Given the description of an element on the screen output the (x, y) to click on. 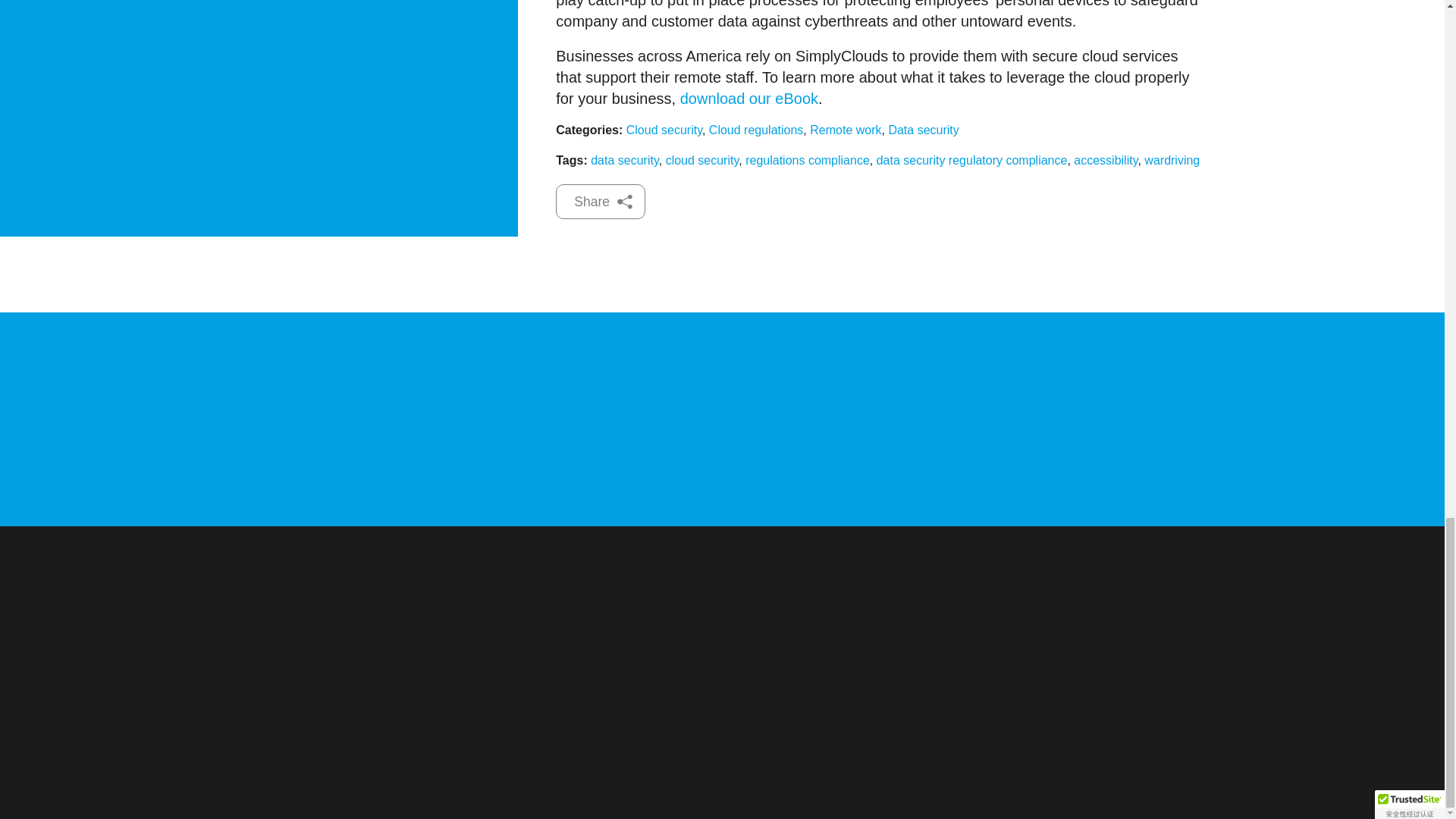
data security regulatory compliance (971, 160)
wardriving (1171, 160)
data security (625, 160)
Cloud security (663, 129)
Data security (923, 129)
Cloud security (663, 129)
Cloud regulations (756, 129)
cloud security (702, 160)
regulations compliance (807, 160)
Remote work (844, 129)
